Given the description of an element on the screen output the (x, y) to click on. 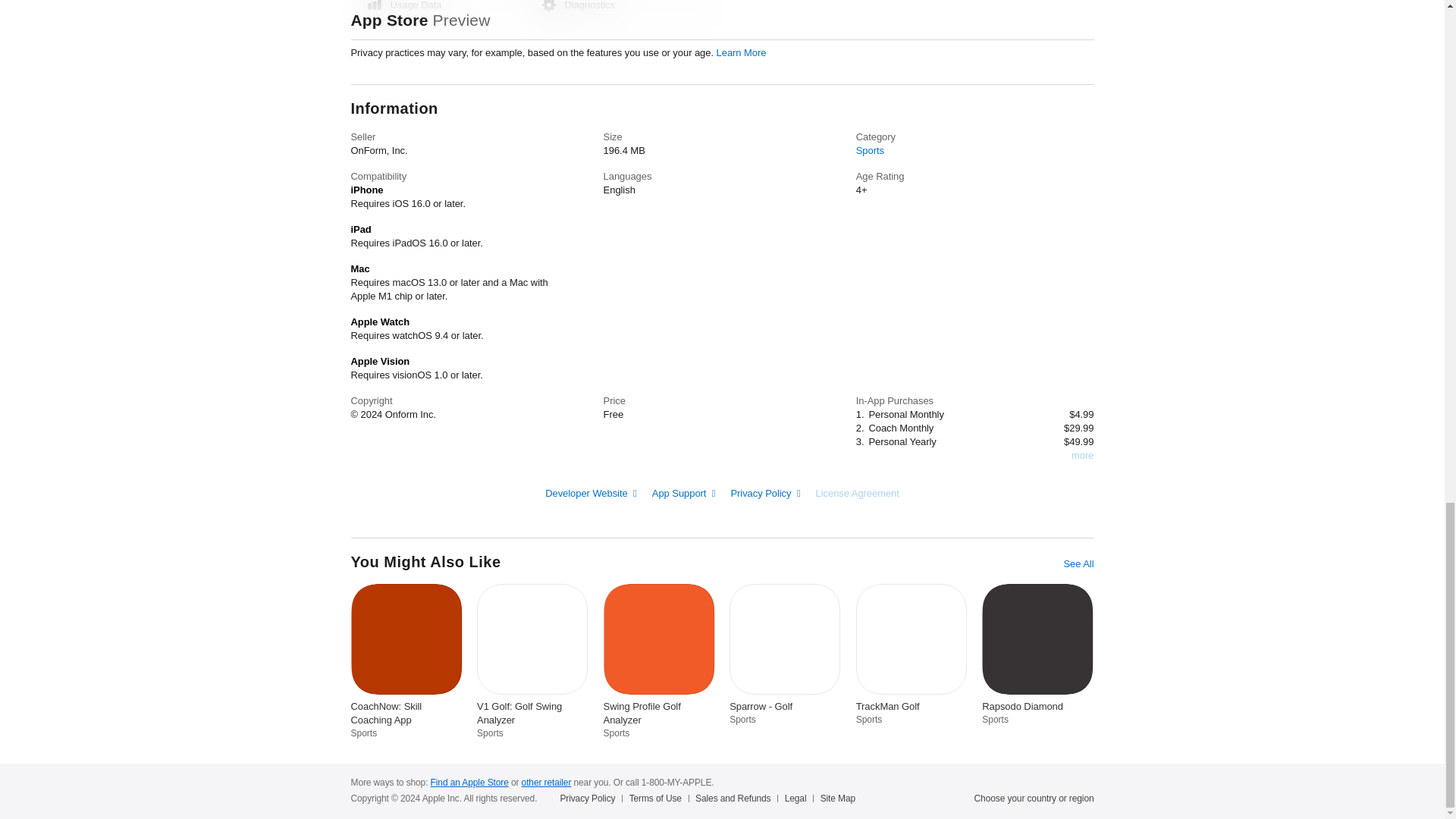
Choose your country or region (1034, 798)
Developer Website (590, 492)
more (1082, 455)
App Support (684, 492)
Learn More (741, 52)
Sports (869, 150)
Privacy Policy (764, 492)
